Given the description of an element on the screen output the (x, y) to click on. 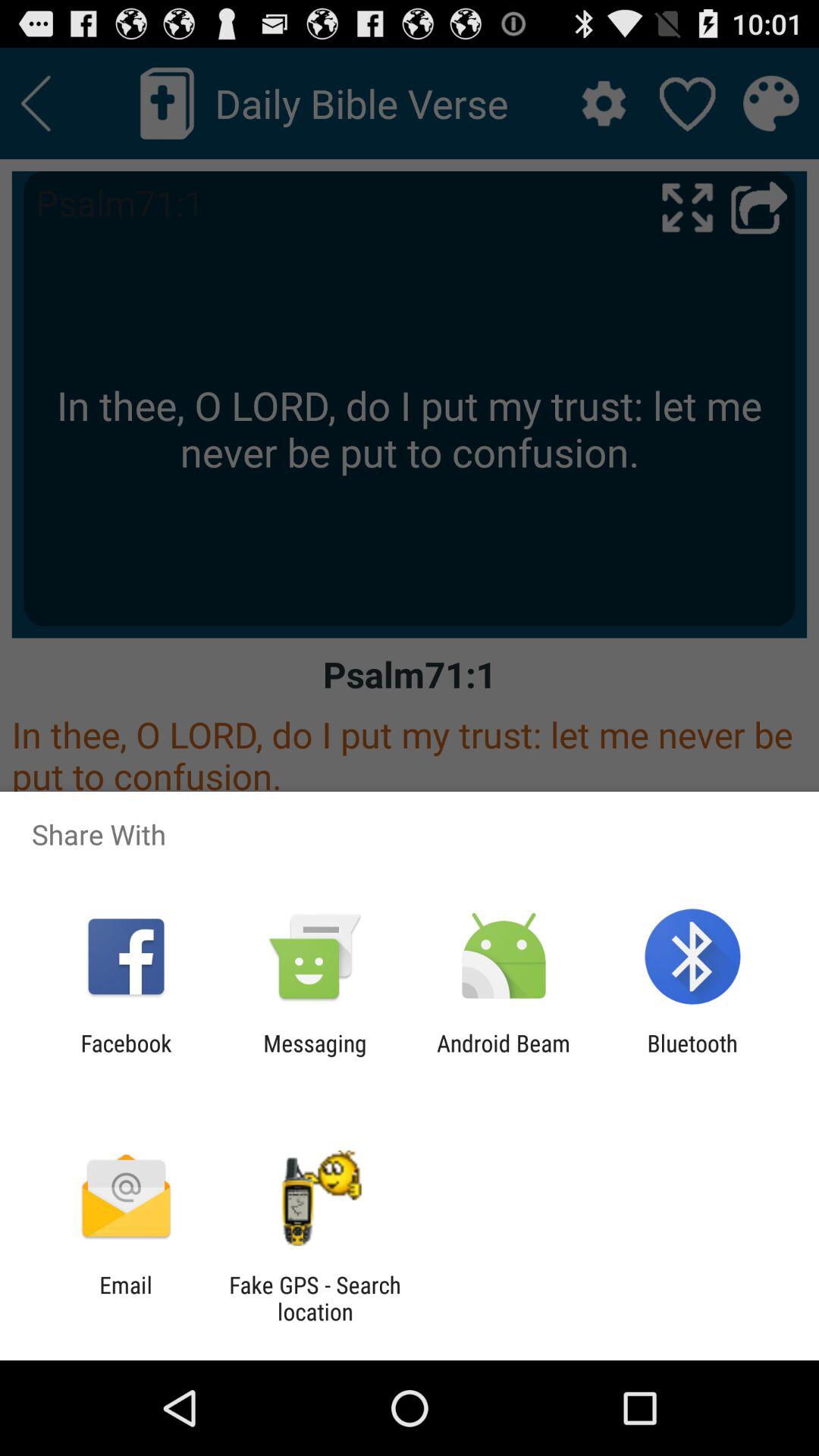
turn on the item to the right of the facebook app (314, 1056)
